Given the description of an element on the screen output the (x, y) to click on. 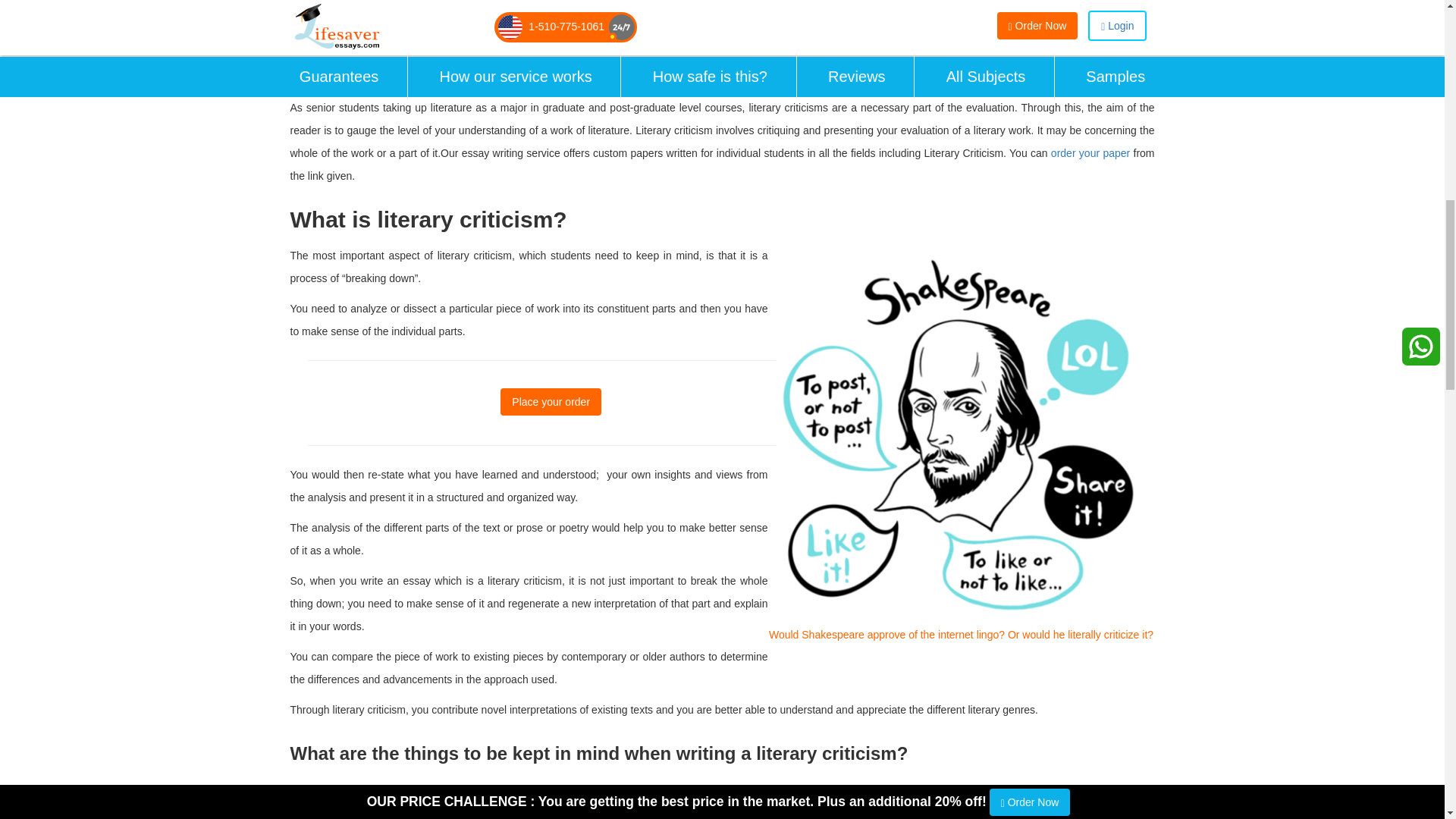
different kind of evaluation (441, 811)
Facebook (301, 73)
Twitter (323, 73)
Facebook (301, 73)
Place your order (550, 401)
Pinterest (346, 73)
Twitter (323, 73)
Pinterest (346, 73)
order your paper (1090, 152)
